Given the description of an element on the screen output the (x, y) to click on. 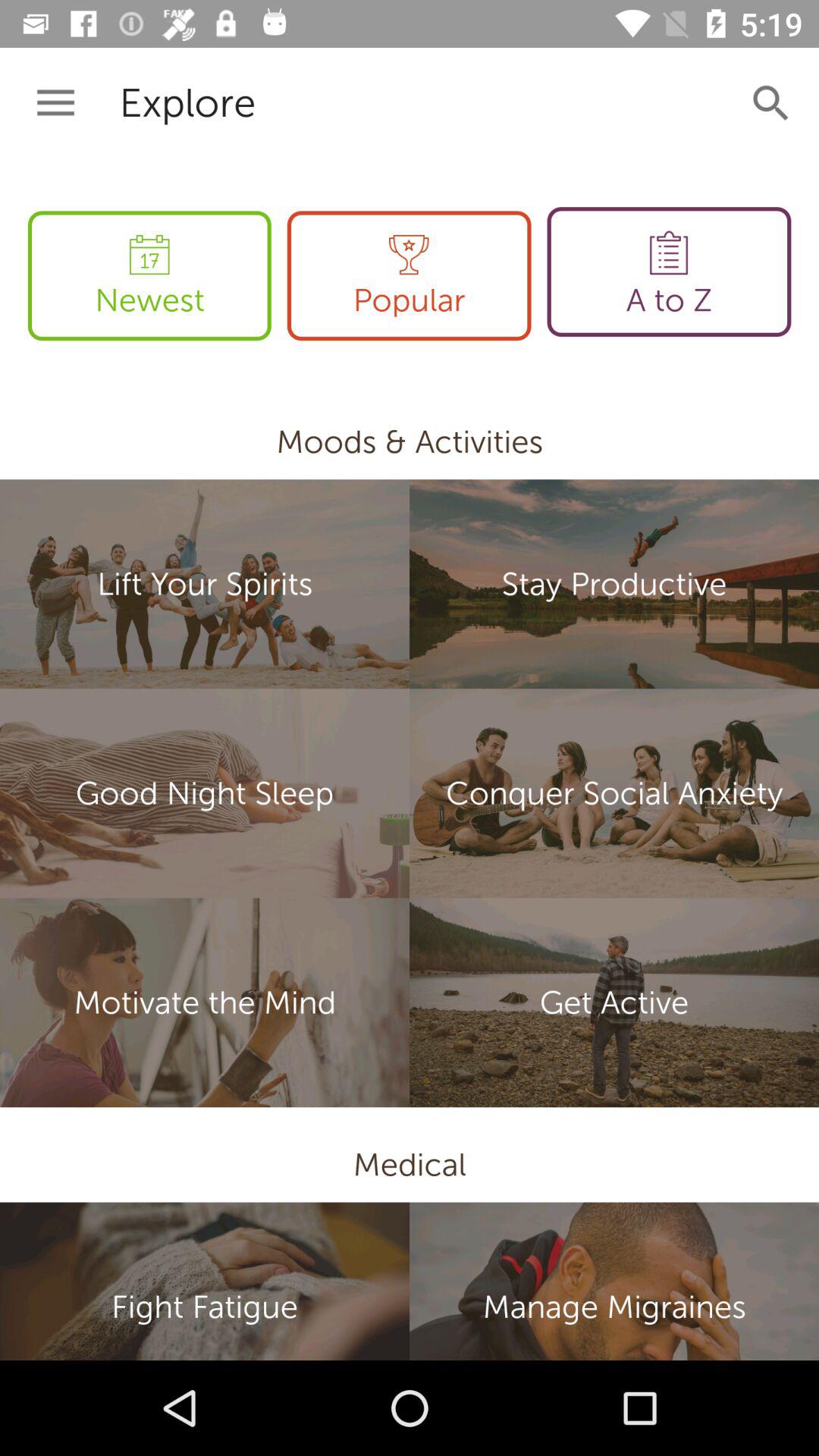
scroll until a to z icon (669, 271)
